Given the description of an element on the screen output the (x, y) to click on. 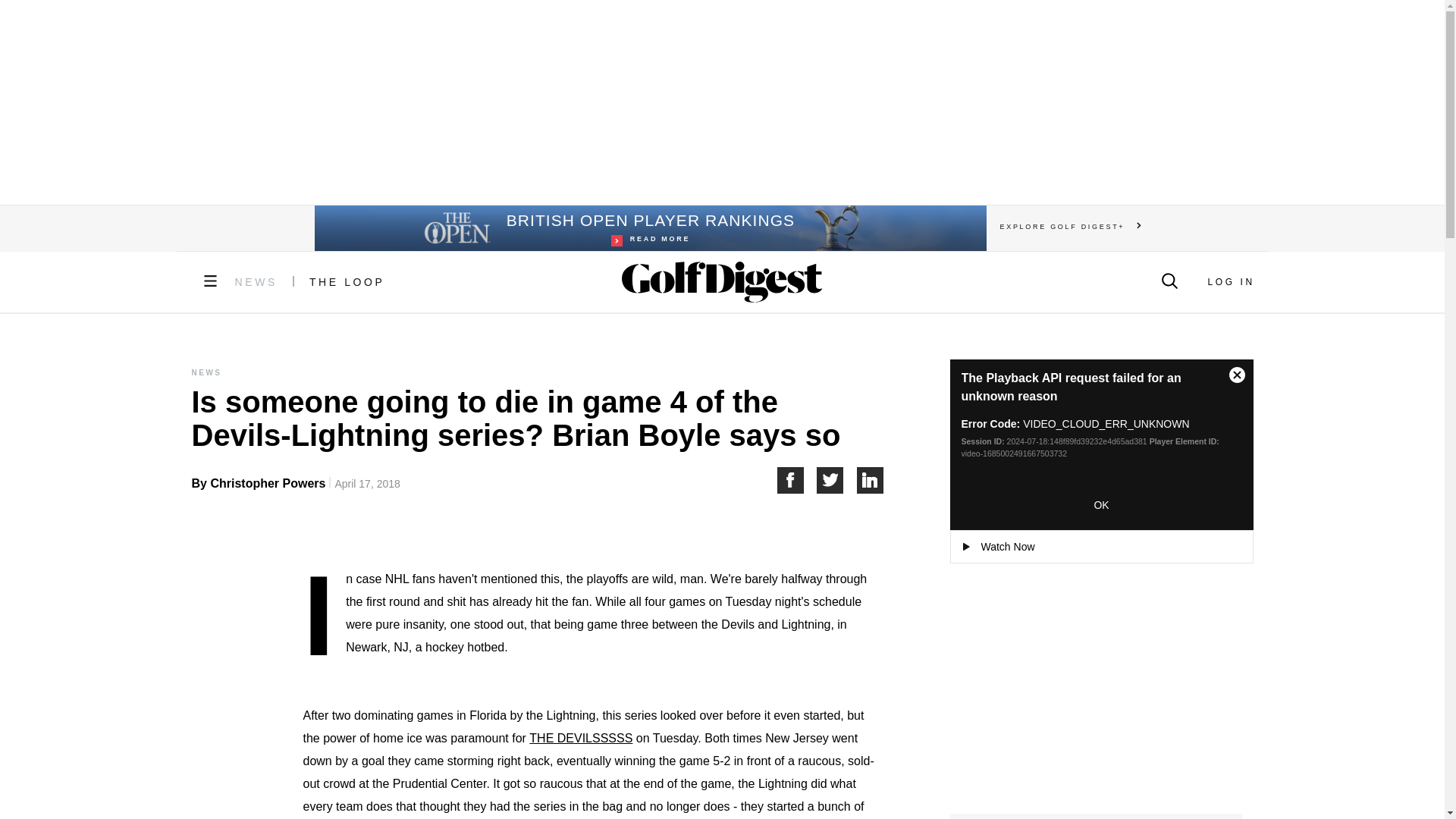
3rd party ad content (649, 227)
Share on Twitter (796, 479)
Share on LinkedIn (836, 479)
THE LOOP (870, 479)
NEWS (346, 282)
LOG IN (256, 282)
